Given the description of an element on the screen output the (x, y) to click on. 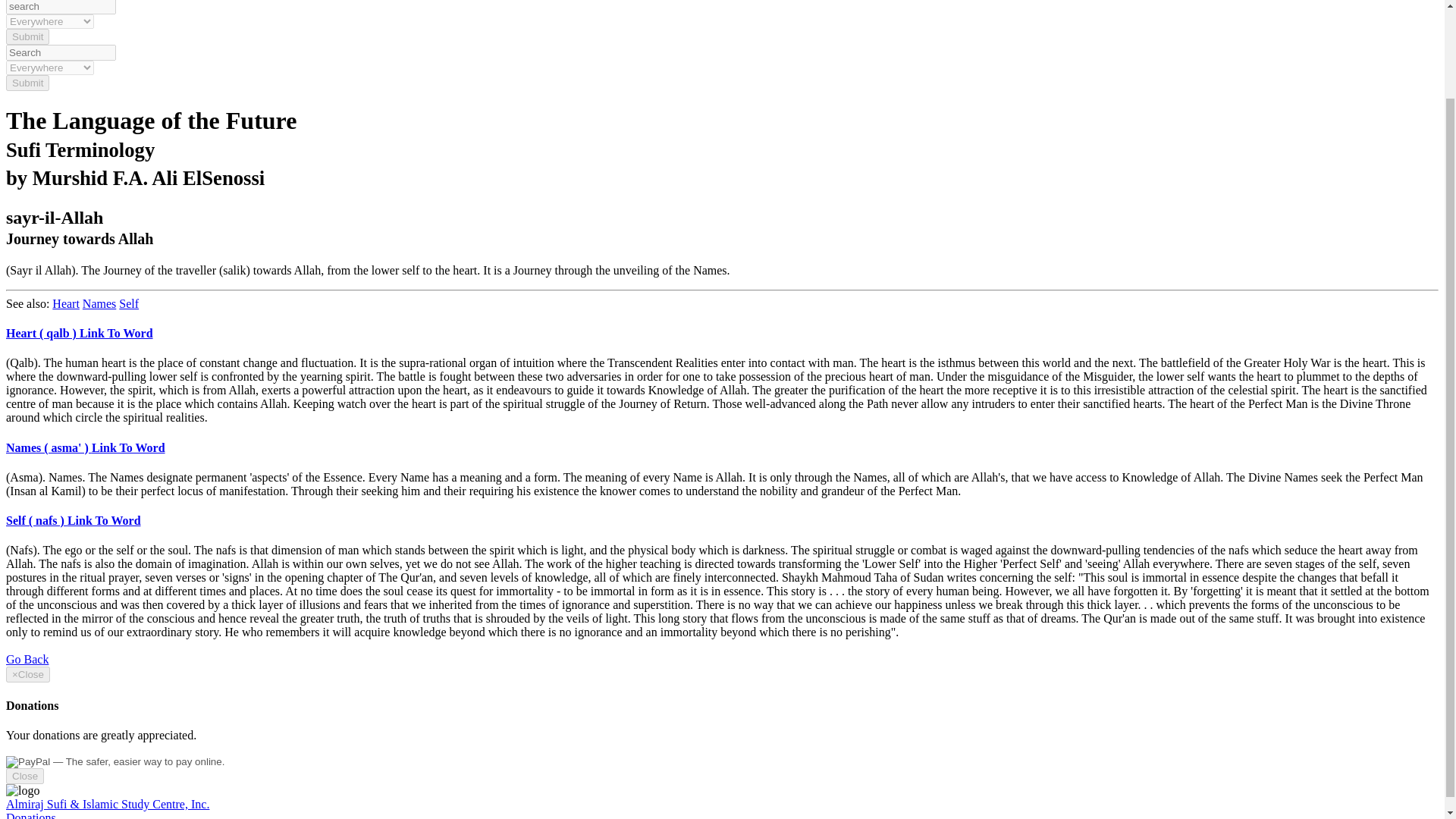
Submit (27, 82)
Link To Word (128, 447)
Names (99, 303)
Self (128, 303)
Link To Word (103, 520)
Submit (27, 82)
Submit (27, 36)
Heart (66, 303)
Go Back (26, 658)
Close (24, 775)
Submit (27, 36)
Link To Word (116, 332)
